Given the description of an element on the screen output the (x, y) to click on. 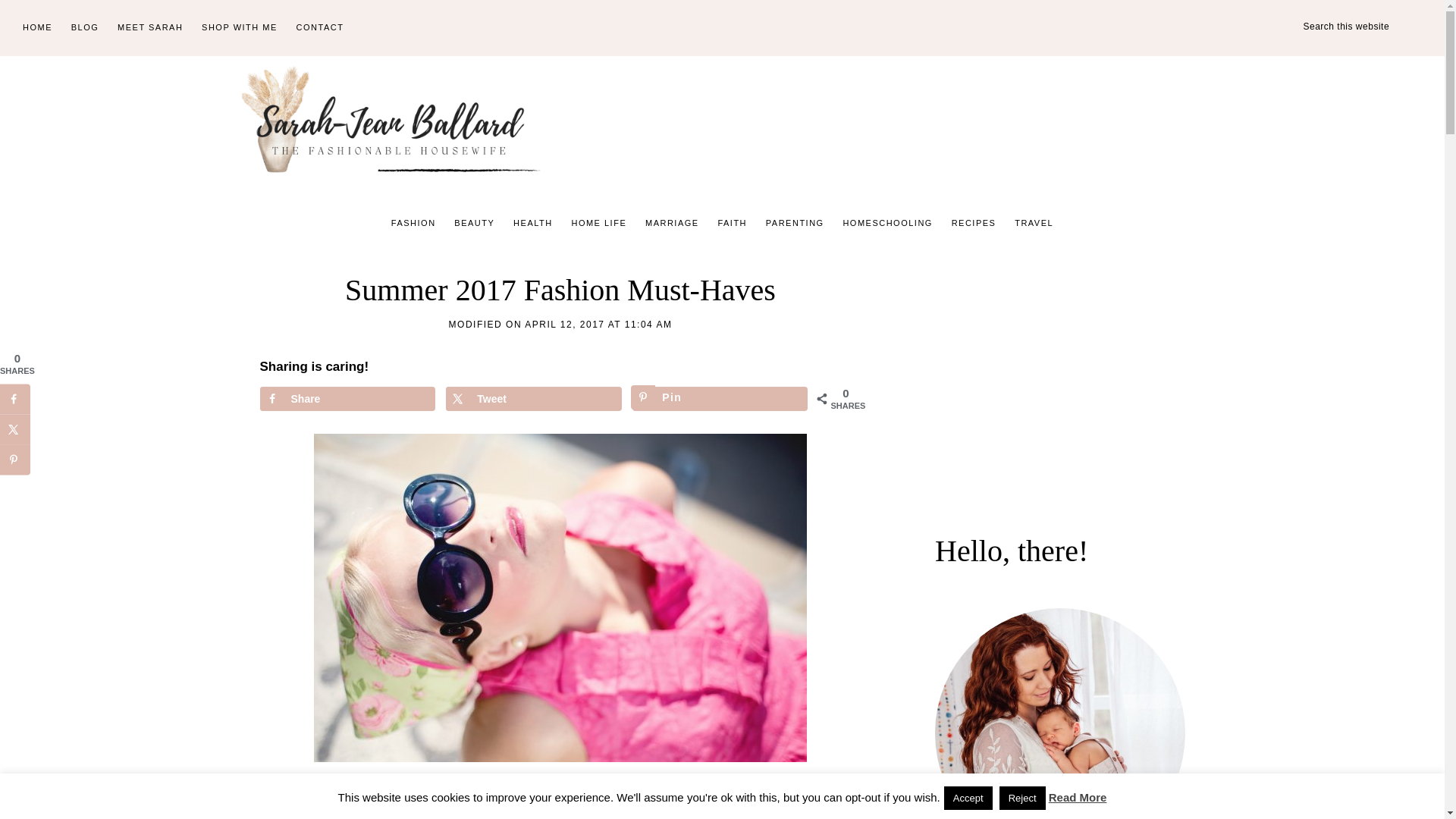
BEAUTY (474, 223)
Share on X (533, 398)
SHOP WITH ME (239, 27)
HOME (36, 27)
FASHION (414, 223)
Share on Facebook (346, 398)
CONTACT (320, 27)
MEET SARAH (150, 27)
